Given the description of an element on the screen output the (x, y) to click on. 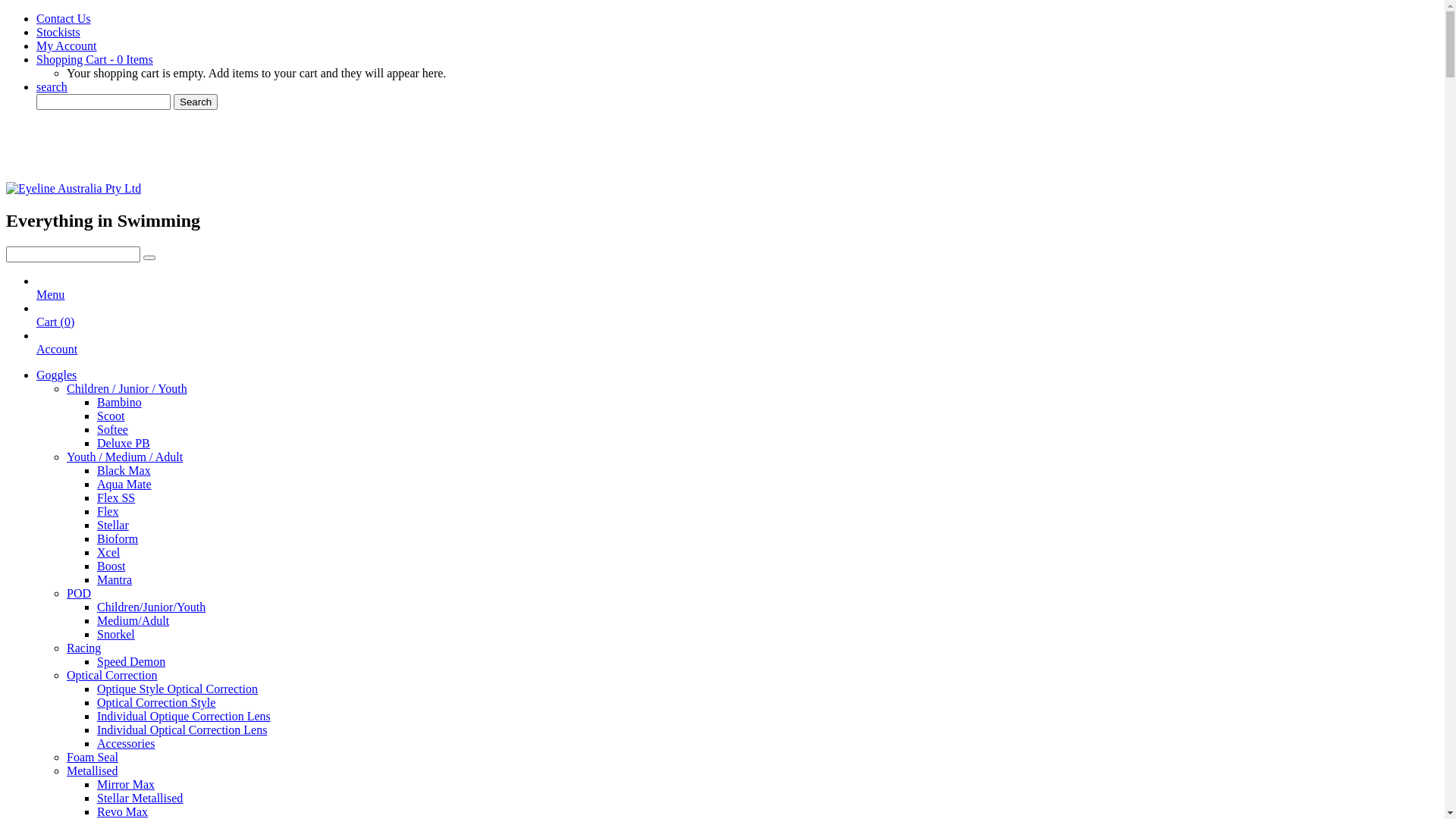
Cart (0) Element type: text (55, 328)
Contact Us Element type: text (63, 18)
Accessories Element type: text (125, 743)
Search Element type: text (149, 257)
Black Max Element type: text (123, 470)
Softee Element type: text (112, 429)
Revo Max Element type: text (122, 811)
Bioform Element type: text (117, 538)
Flex Element type: text (107, 511)
Optical Correction Style Element type: text (156, 702)
My Account Element type: text (66, 45)
Individual Optique Correction Lens Element type: text (183, 715)
Eyeline Australia Pty Ltd Element type: hover (73, 188)
Menu Element type: text (50, 301)
Individual Optical Correction Lens Element type: text (181, 729)
search Element type: text (51, 86)
Stockists Element type: text (58, 31)
Flex SS Element type: text (115, 497)
Account Element type: text (56, 355)
Scoot Element type: text (110, 415)
Optical Correction Element type: text (111, 674)
Children/Junior/Youth Element type: text (151, 606)
Stellar Element type: text (112, 524)
Xcel Element type: text (108, 552)
Mantra Element type: text (114, 579)
Medium/Adult Element type: text (133, 620)
Youth / Medium / Adult Element type: text (124, 456)
Optique Style Optical Correction Element type: text (177, 688)
Children / Junior / Youth Element type: text (126, 388)
Deluxe PB Element type: text (123, 442)
Metallised Element type: text (92, 770)
Goggles Element type: text (56, 374)
Speed Demon Element type: text (131, 661)
Aqua Mate Element type: text (124, 483)
Foam Seal Element type: text (92, 756)
Racing Element type: text (83, 647)
Search Element type: text (195, 101)
Shopping Cart - 0 Items Element type: text (94, 59)
Mirror Max Element type: text (125, 784)
Boost Element type: text (111, 565)
Snorkel Element type: text (115, 633)
Bambino Element type: text (119, 401)
Stellar Metallised Element type: text (139, 797)
POD Element type: text (78, 592)
